Given the description of an element on the screen output the (x, y) to click on. 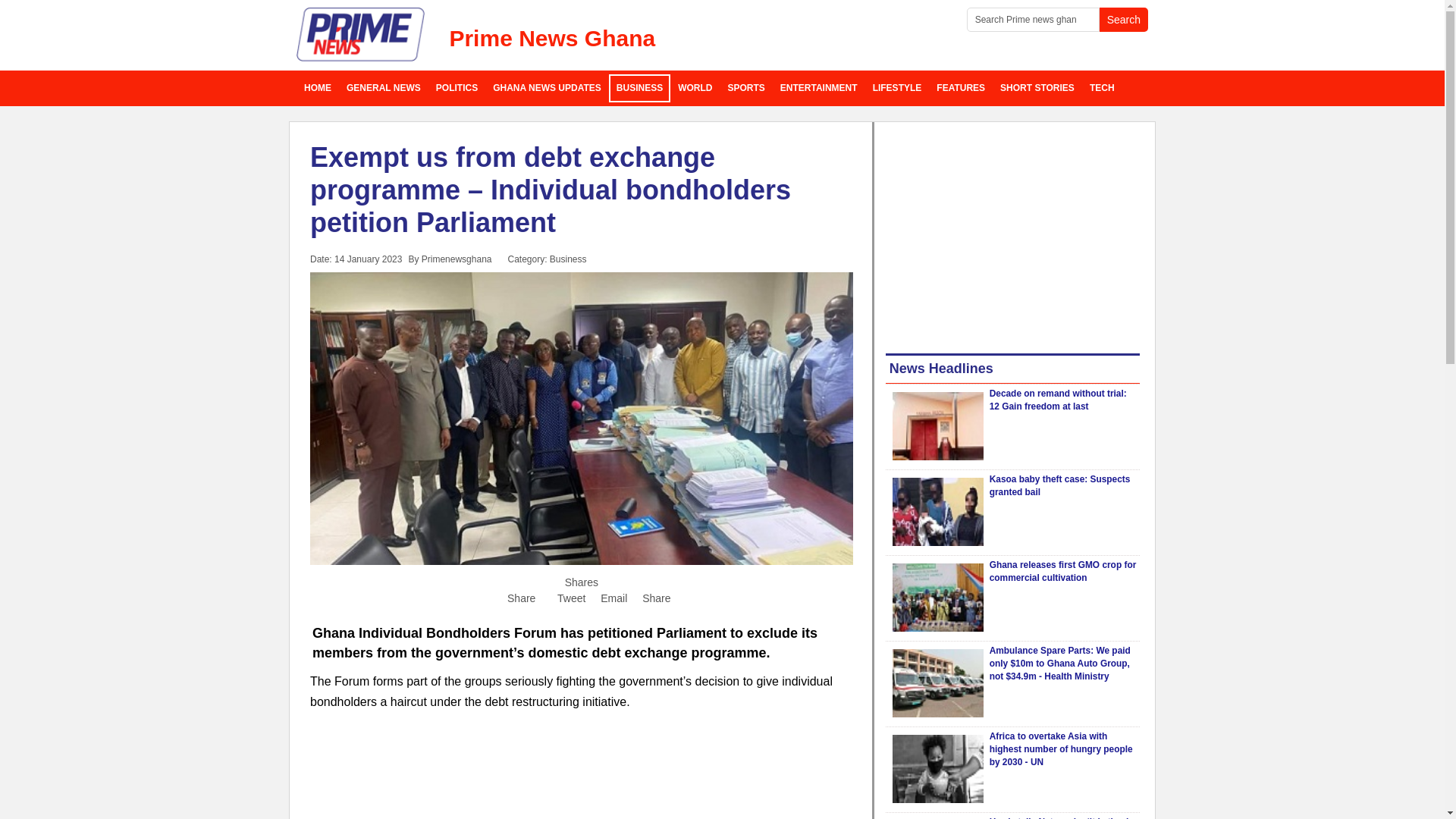
TECH (1101, 88)
Entertainment news in Ghana and Celebrity news (818, 88)
BUSINESS (638, 88)
FEATURES (960, 88)
SPORTS (746, 88)
Ghana Political News (456, 88)
Advertisement (581, 774)
GHANA NEWS UPDATES (546, 88)
ENTERTAINMENT (818, 88)
Ghana releases first GMO crop for commercial cultivation (938, 597)
Short Stories on Primenewsghana.com (1036, 88)
Lifestyle - Health - Relationships Articles and More (897, 88)
GENERAL NEWS (383, 88)
LIFESTYLE (897, 88)
Top ghana news headlines (546, 88)
